Given the description of an element on the screen output the (x, y) to click on. 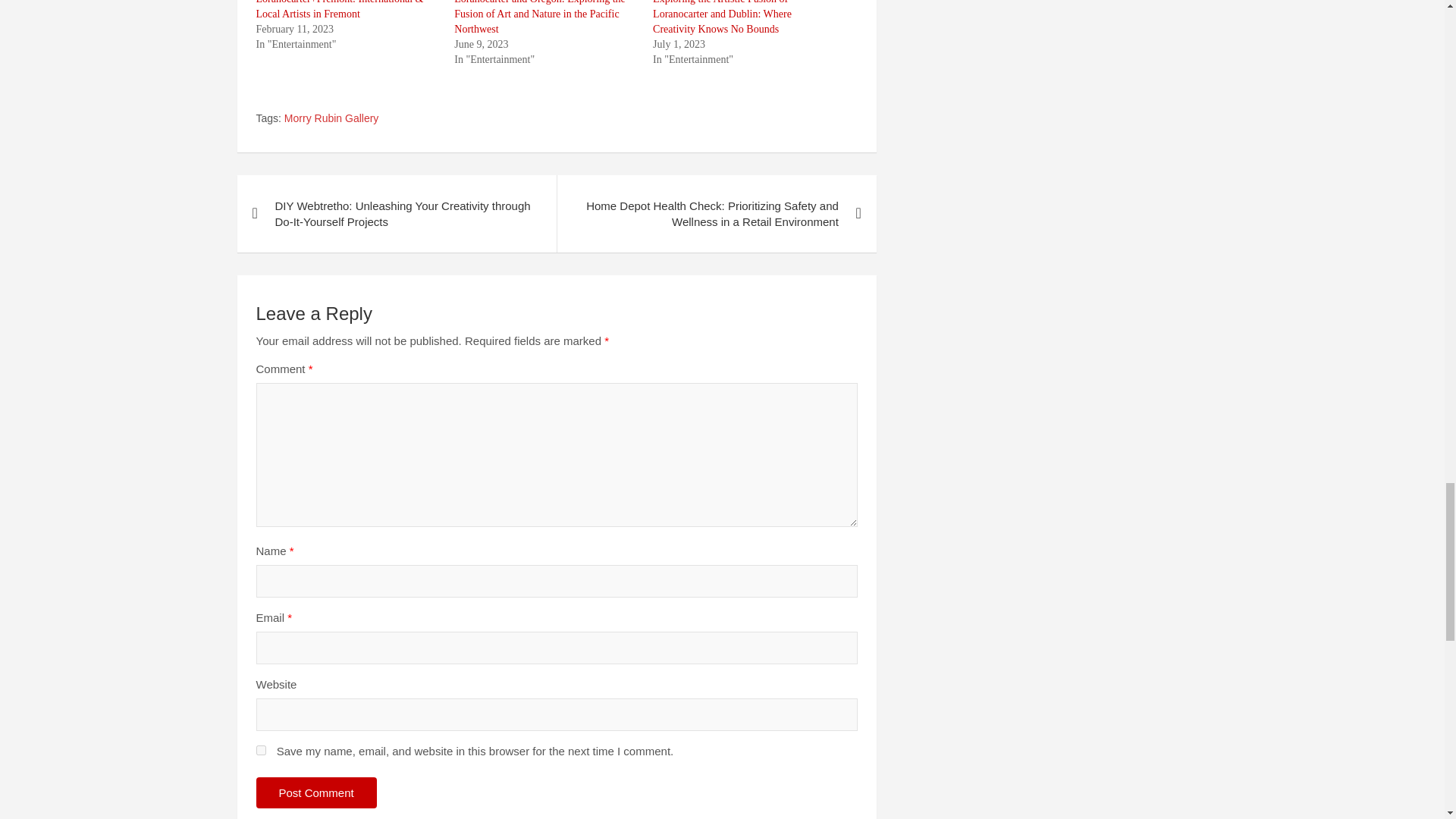
yes (261, 750)
Post Comment (316, 792)
